Given the description of an element on the screen output the (x, y) to click on. 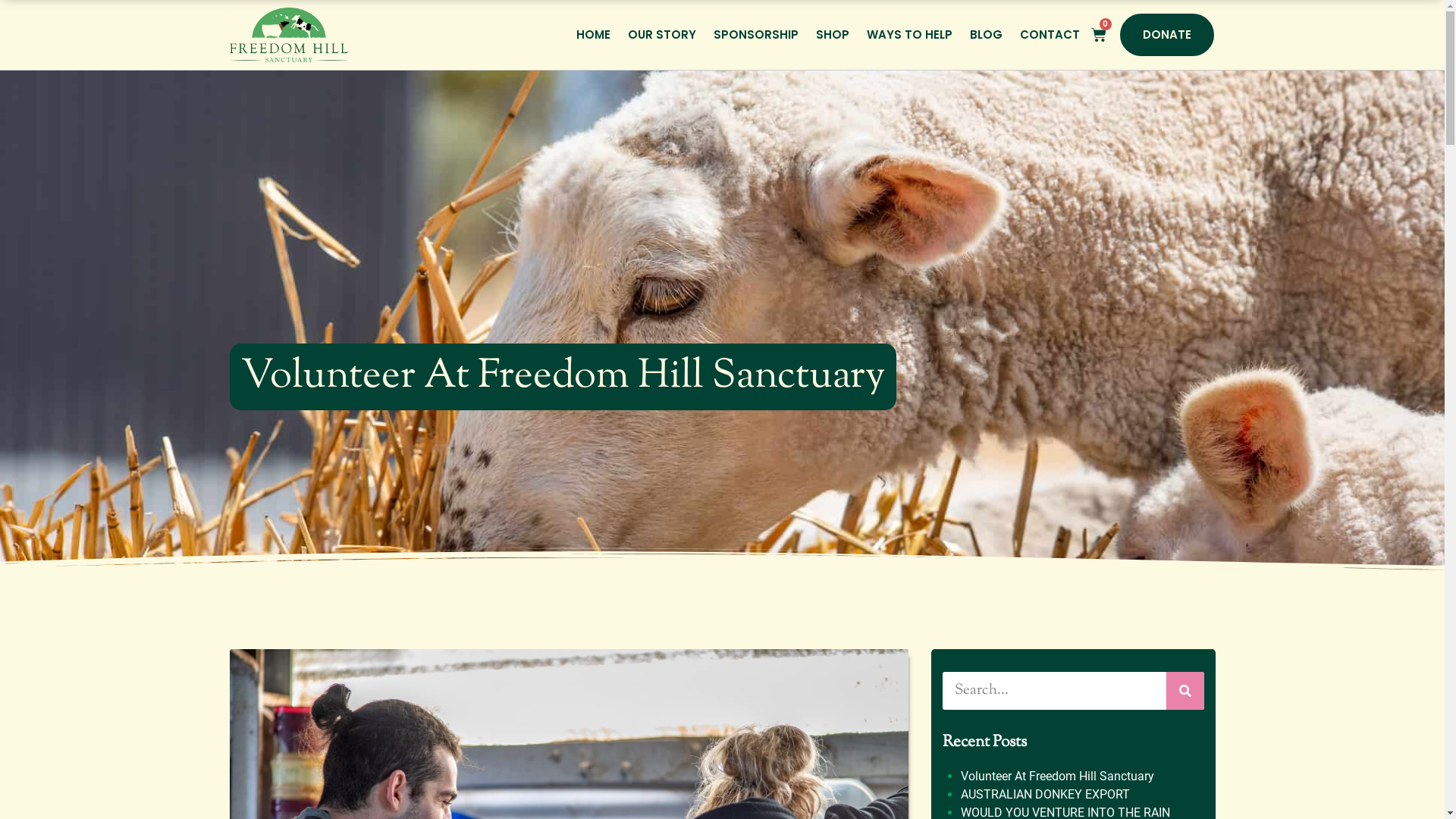
CONTACT Element type: text (1049, 34)
DONATE Element type: text (1165, 34)
Volunteer At Freedom Hill Sanctuary Element type: text (1056, 775)
HOME Element type: text (592, 34)
OUR STORY Element type: text (661, 34)
WAYS TO HELP Element type: text (909, 34)
BLOG Element type: text (986, 34)
AUSTRALIAN DONKEY EXPORT Element type: text (1044, 794)
SHOP Element type: text (831, 34)
0 Element type: text (1097, 34)
SPONSORSHIP Element type: text (755, 34)
